Given the description of an element on the screen output the (x, y) to click on. 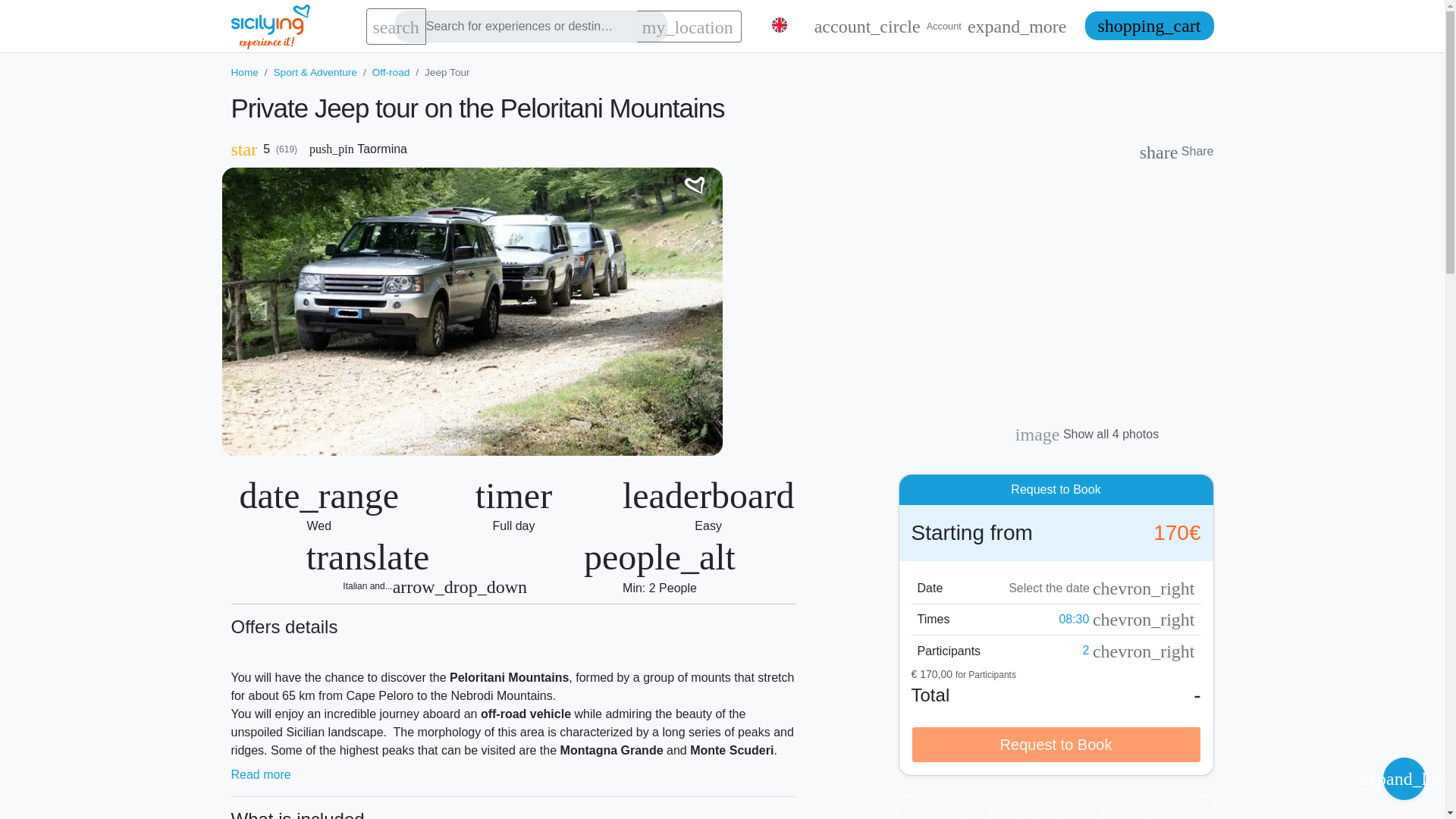
Account (940, 25)
Sicilying (279, 25)
